Given the description of an element on the screen output the (x, y) to click on. 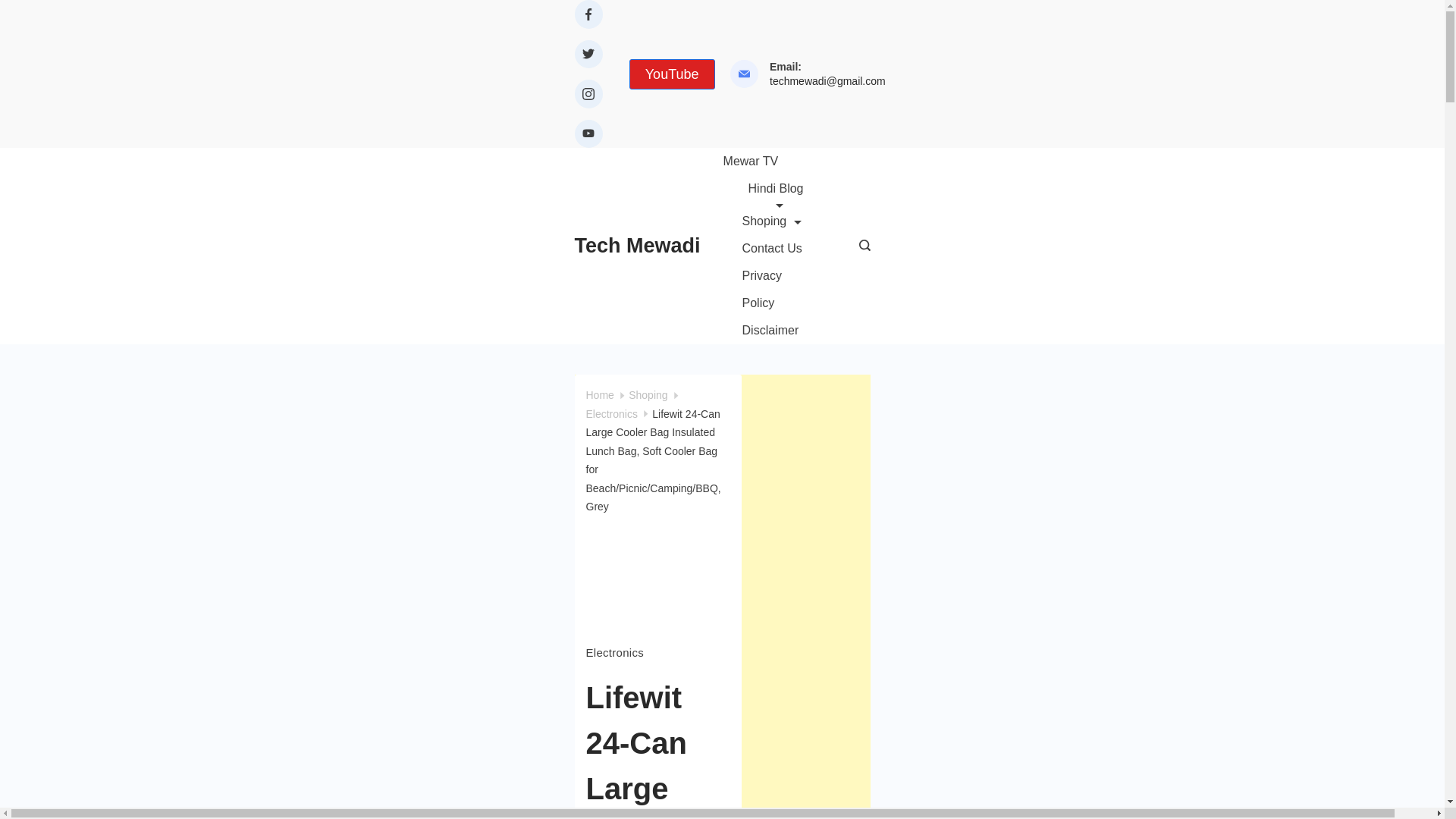
Mewar TV (760, 161)
Disclaimer (761, 329)
Tech Mewadi (637, 245)
Privacy Policy (775, 289)
YouTube (671, 73)
Shoping (772, 221)
Contact Us (772, 248)
Hindi Blog (775, 191)
